Given the description of an element on the screen output the (x, y) to click on. 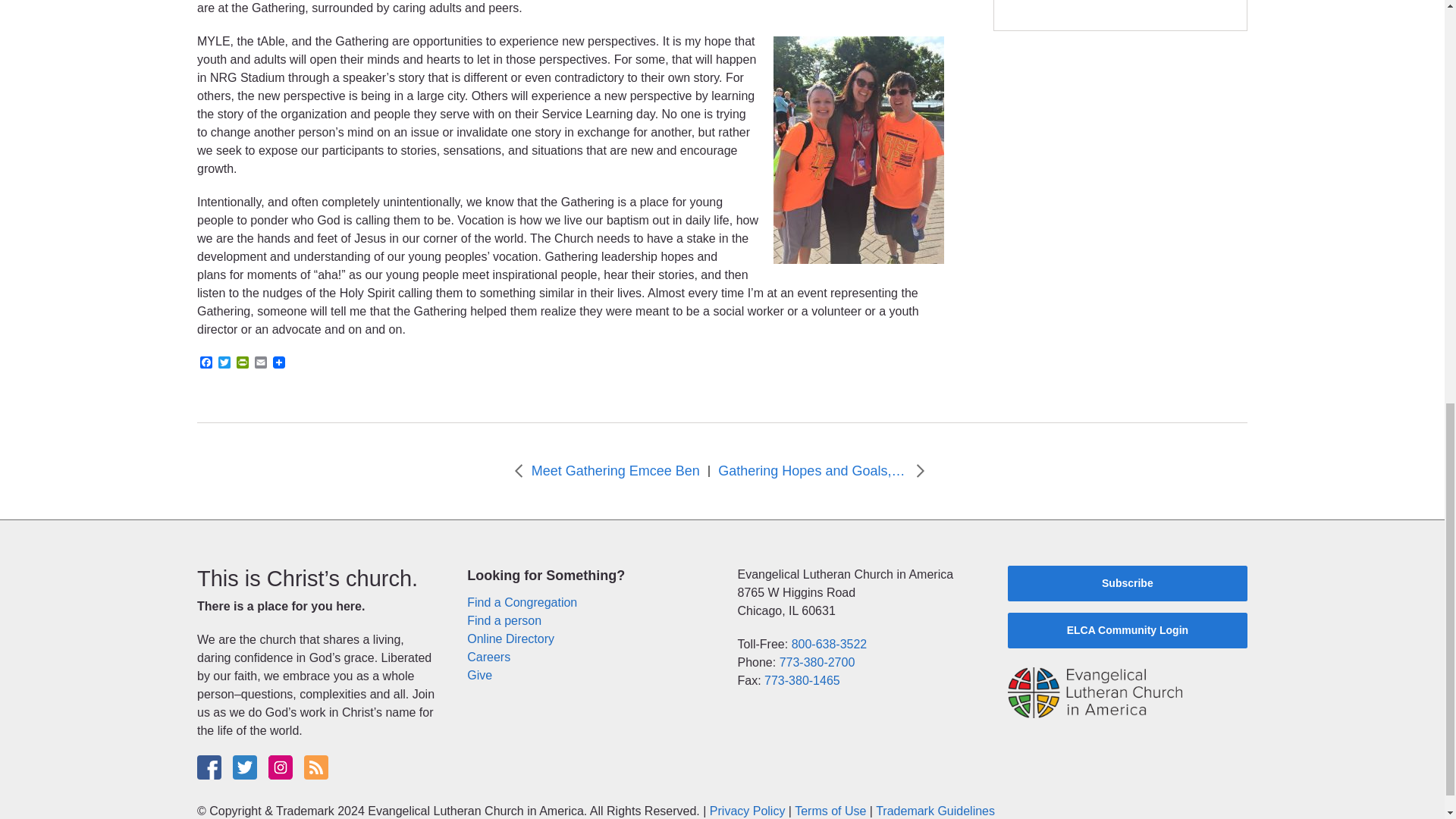
PrintFriendly (241, 363)
PrintFriendly (241, 363)
Gathering Hopes and Goals, Part II (812, 471)
Facebook (205, 363)
Twitter (223, 363)
Facebook (205, 363)
Meet Gathering Emcee Ben (615, 471)
Email (260, 363)
Twitter (223, 363)
Email (260, 363)
